Given the description of an element on the screen output the (x, y) to click on. 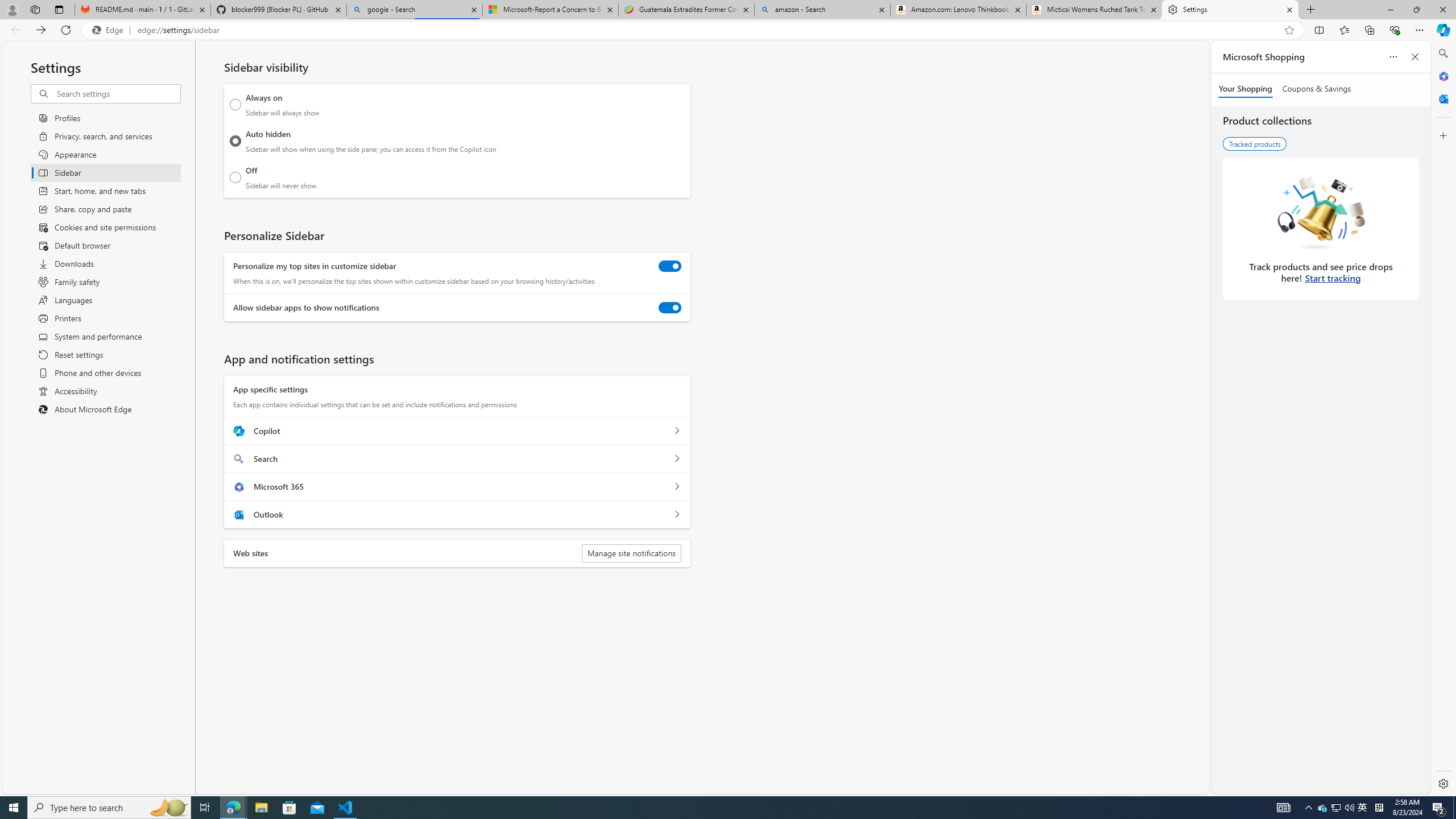
Always on Sidebar will always show (235, 104)
Manage site notifications (630, 553)
